Given the description of an element on the screen output the (x, y) to click on. 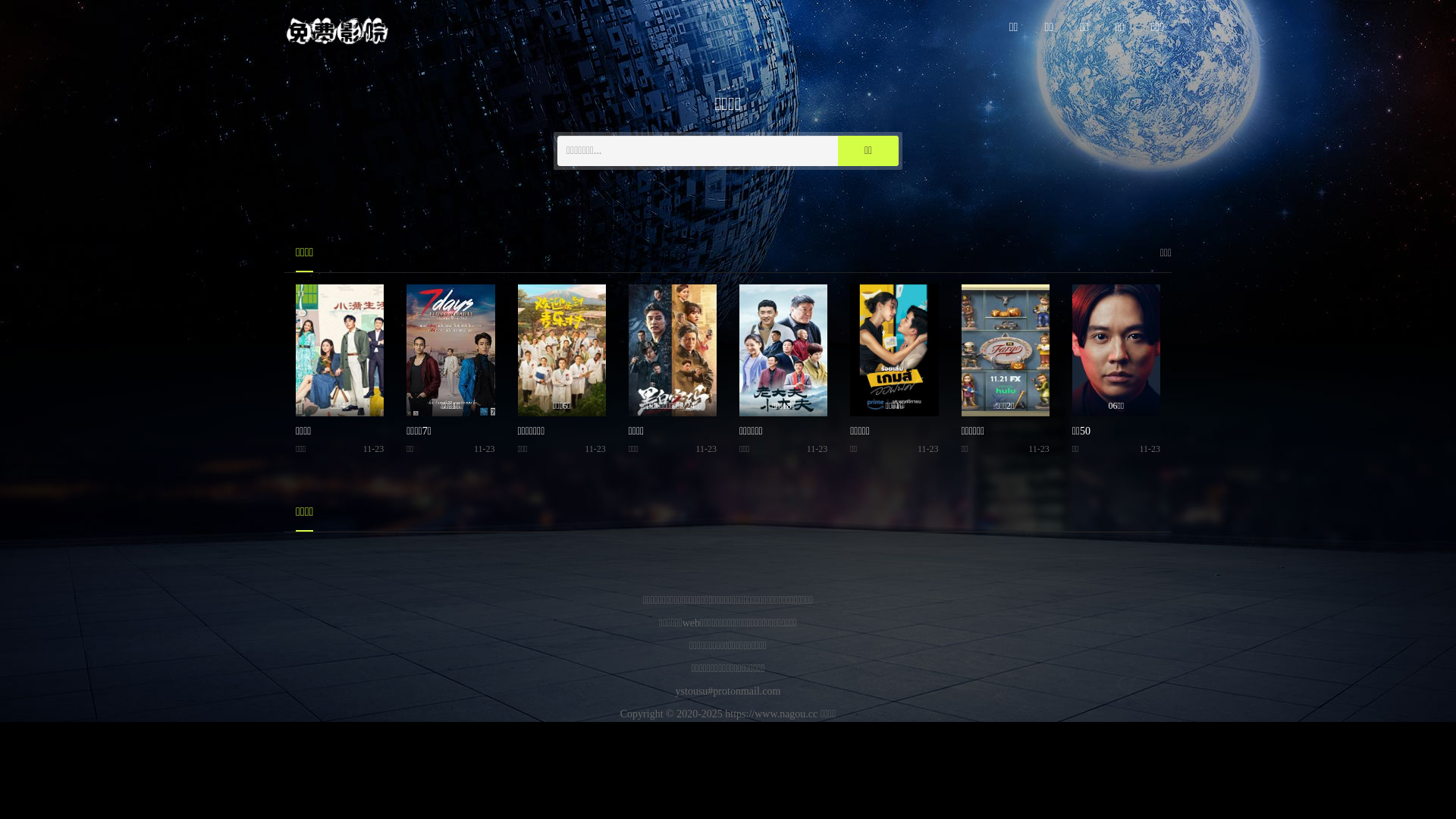
https://www.nagou.cc Element type: text (770, 713)
